Given the description of an element on the screen output the (x, y) to click on. 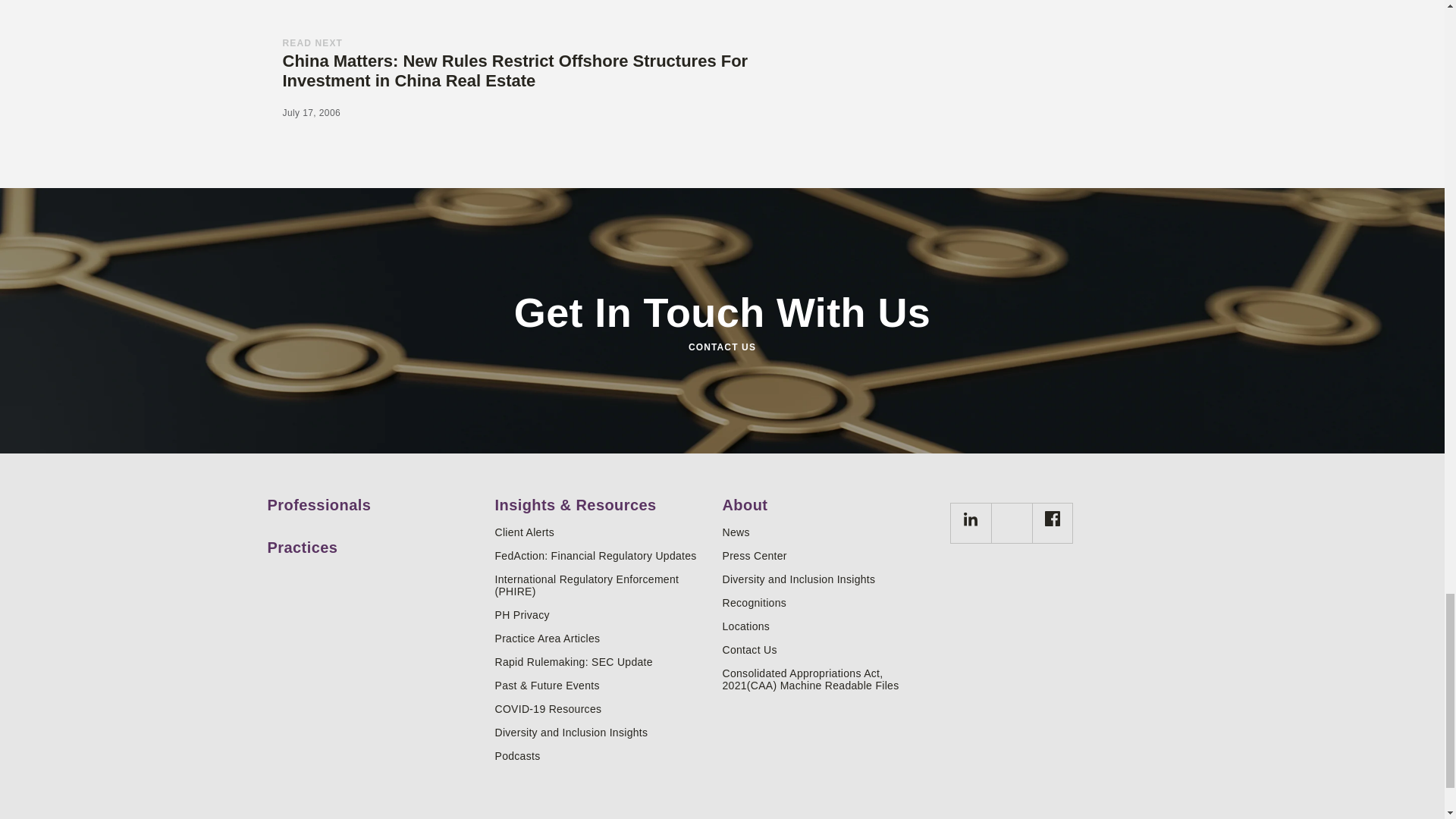
FedAction: Financial Regulatory Updates (602, 555)
PH Privacy (602, 614)
CB6A0679-7CD4-47AB-9AF9-079521319001Created with sketchtool. (969, 518)
Practices (374, 541)
Press Center (829, 555)
Contact Us (829, 649)
Diversity and Inclusion Insights (602, 732)
Podcasts (602, 756)
BC42128A-F0DE-4FE2-9372-6CDE6D4F5957Created with sketchtool. (1050, 522)
BC42128A-F0DE-4FE2-9372-6CDE6D4F5957Created with sketchtool. (1052, 518)
About (829, 499)
Recognitions (829, 603)
Rapid Rulemaking: SEC Update (602, 662)
Locations (829, 625)
